Given the description of an element on the screen output the (x, y) to click on. 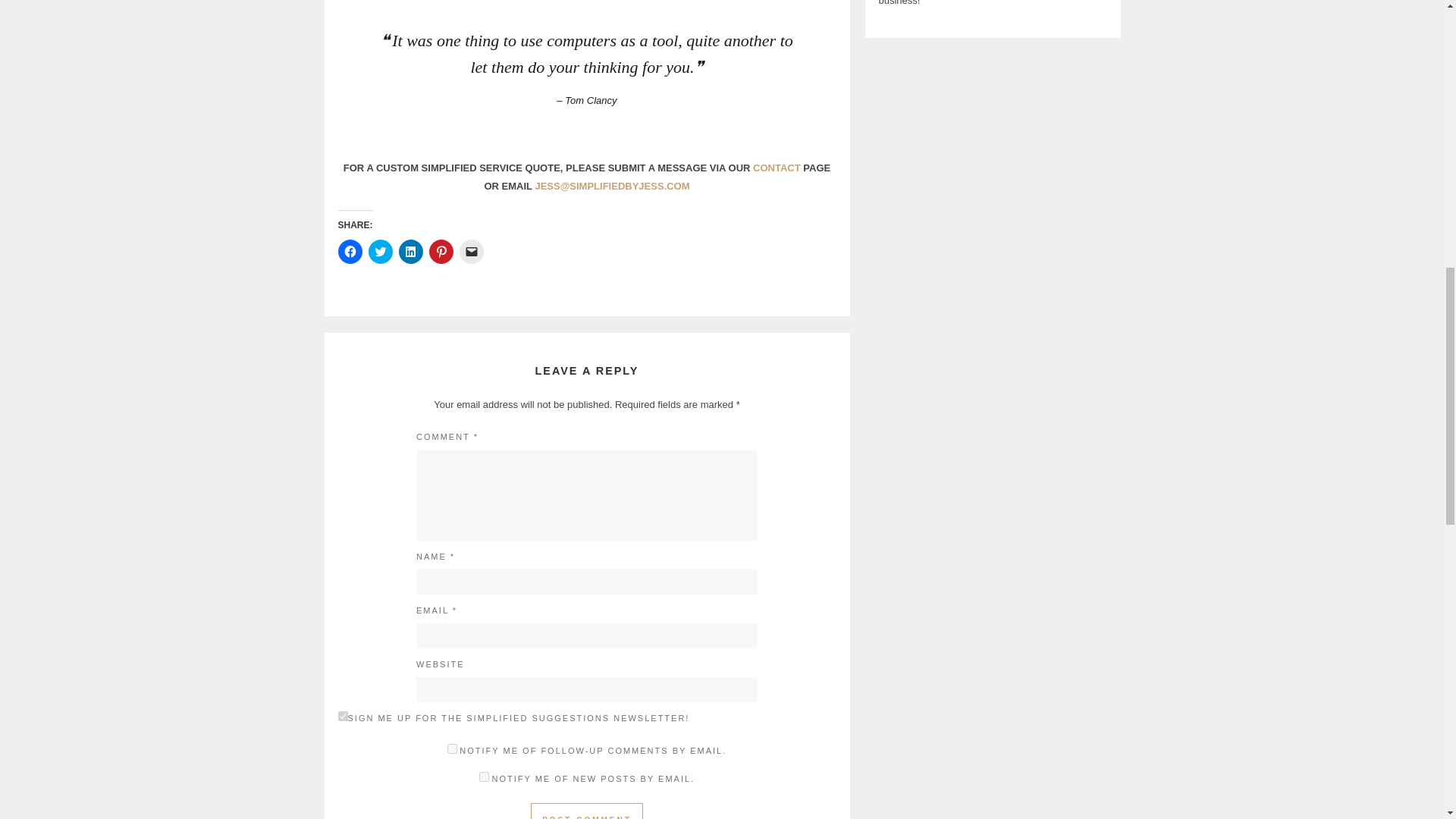
Click to email a link to a friend (471, 251)
1 (342, 716)
Post Comment (587, 811)
Click to share on LinkedIn (410, 251)
Click to share on Facebook (349, 251)
Click to share on Pinterest (440, 251)
Click to share on Twitter (380, 251)
CONTACT (776, 167)
subscribe (484, 777)
subscribe (451, 748)
Post Comment (587, 811)
